Given the description of an element on the screen output the (x, y) to click on. 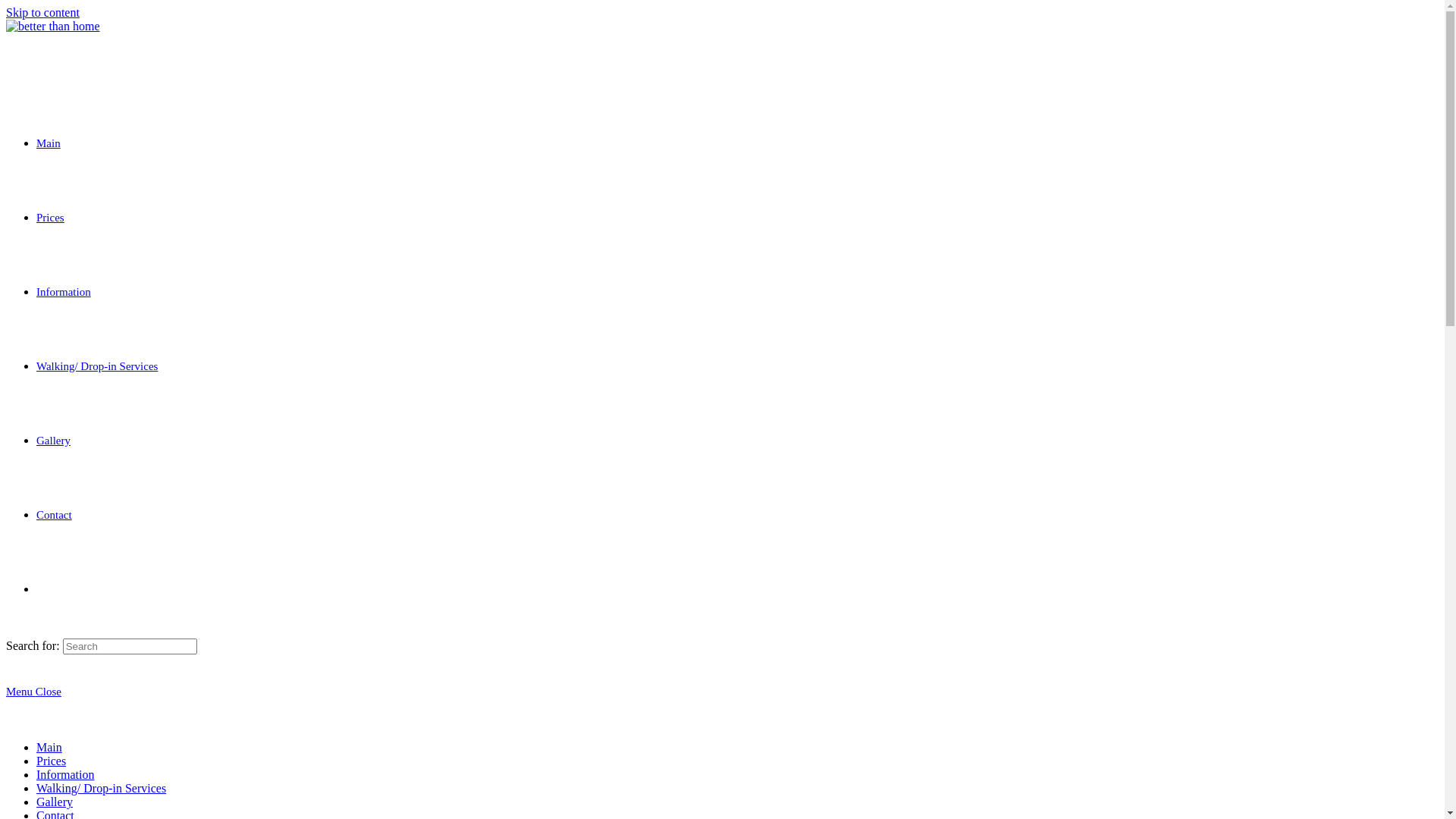
Gallery Element type: text (54, 801)
Walking/ Drop-in Services Element type: text (101, 787)
Information Element type: text (63, 291)
Prices Element type: text (50, 217)
Main Element type: text (49, 746)
Menu Close Element type: text (33, 691)
Information Element type: text (65, 774)
Contact Element type: text (54, 514)
Skip to content Element type: text (42, 12)
Prices Element type: text (50, 760)
Main Element type: text (48, 143)
Walking/ Drop-in Services Element type: text (96, 366)
Gallery Element type: text (53, 440)
